Given the description of an element on the screen output the (x, y) to click on. 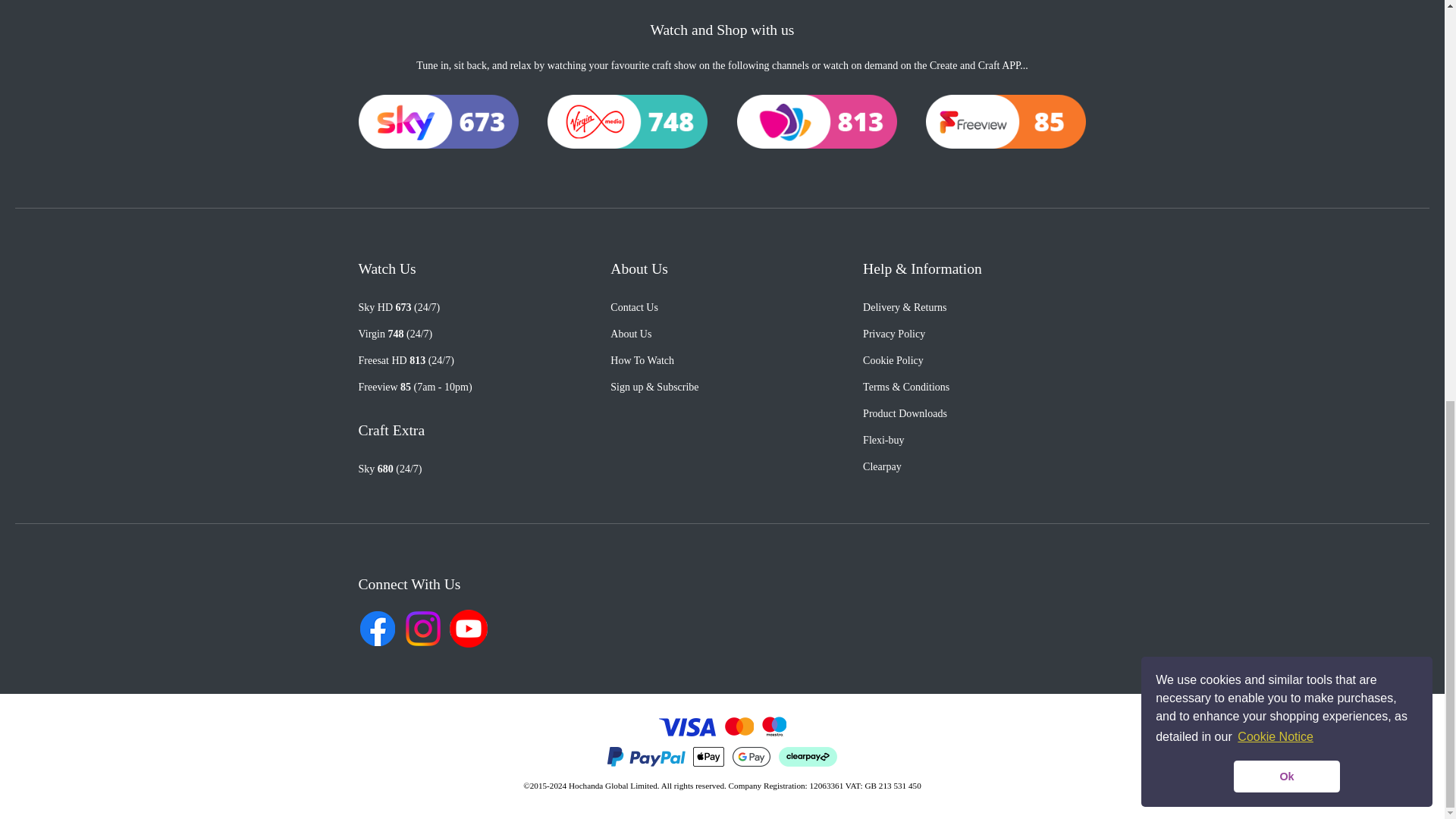
Contact Us (634, 307)
About Us (630, 333)
How To Watch (642, 360)
Ok (1286, 3)
Privacy Policy (893, 333)
